Given the description of an element on the screen output the (x, y) to click on. 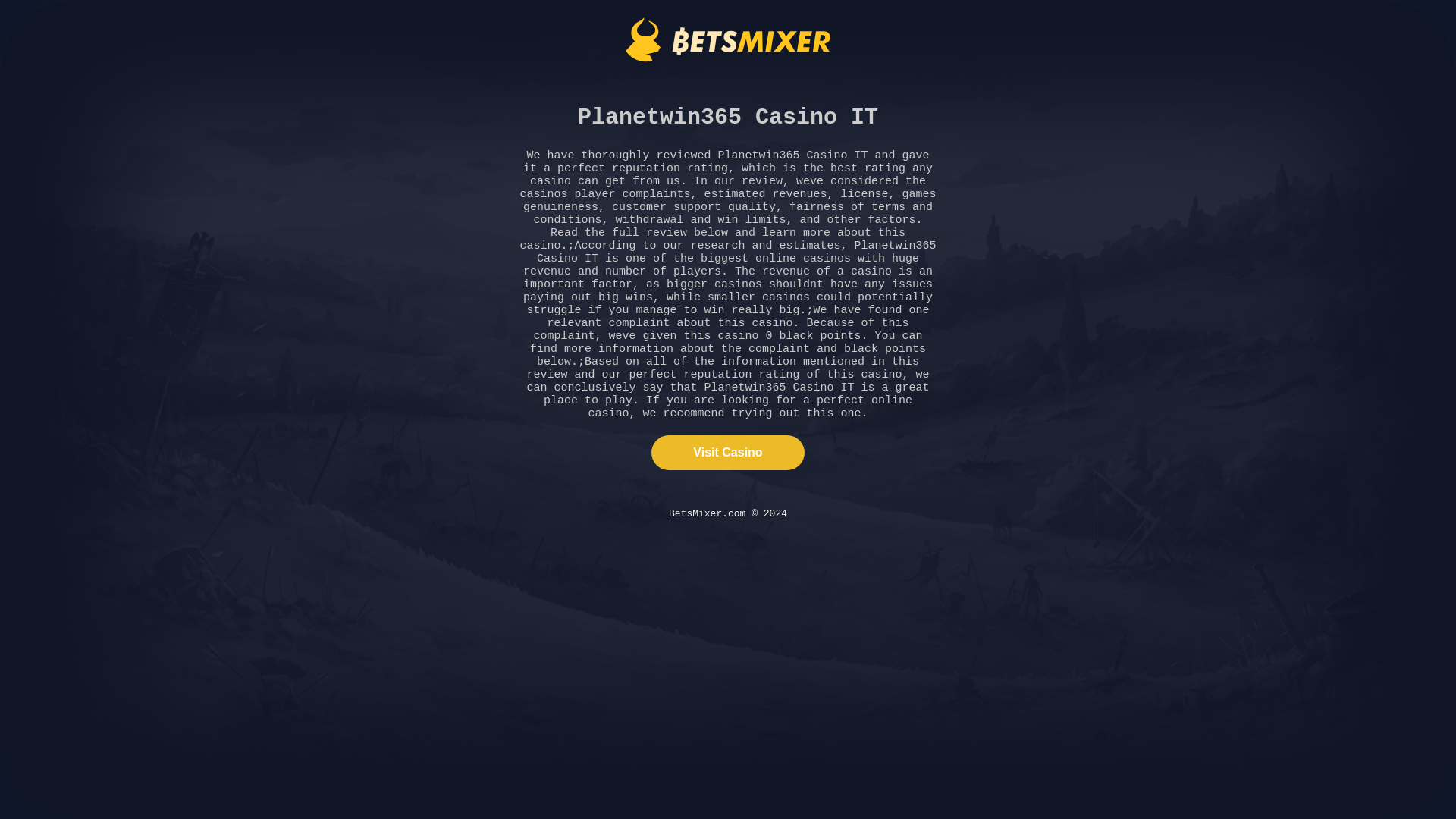
Visit Casino (726, 452)
BetsMixer.com (727, 39)
